Given the description of an element on the screen output the (x, y) to click on. 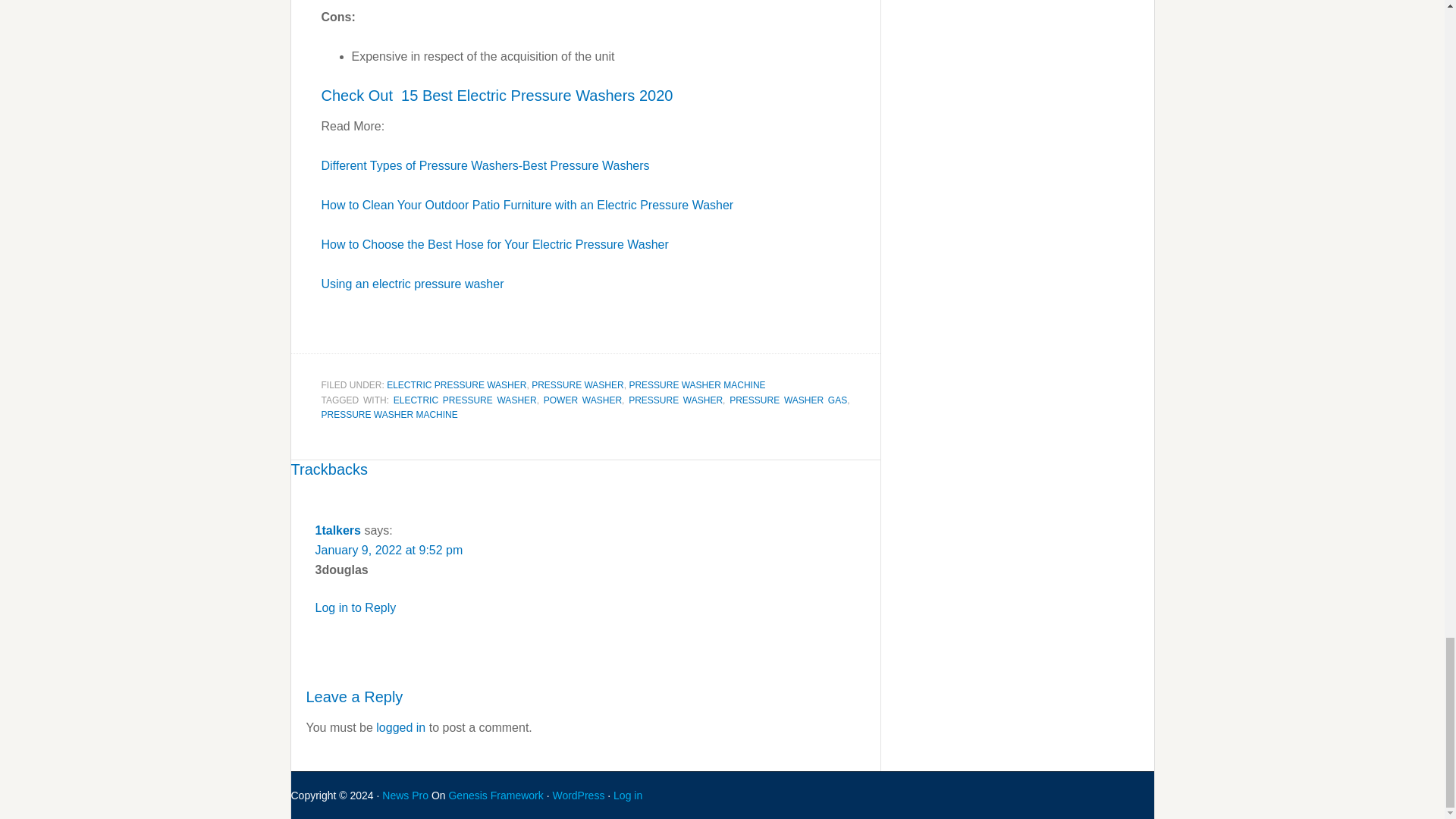
ELECTRIC PRESSURE WASHER (465, 399)
PRESSURE WASHER MACHINE (696, 385)
Check Out  15 Best Electric Pressure Washers 2020 (496, 95)
POWER WASHER (582, 399)
Using an electric pressure washer (412, 283)
ELECTRIC PRESSURE WASHER (456, 385)
Different Types of Pressure Washers-Best Pressure Washers (485, 164)
PRESSURE WASHER MACHINE (389, 414)
